Given the description of an element on the screen output the (x, y) to click on. 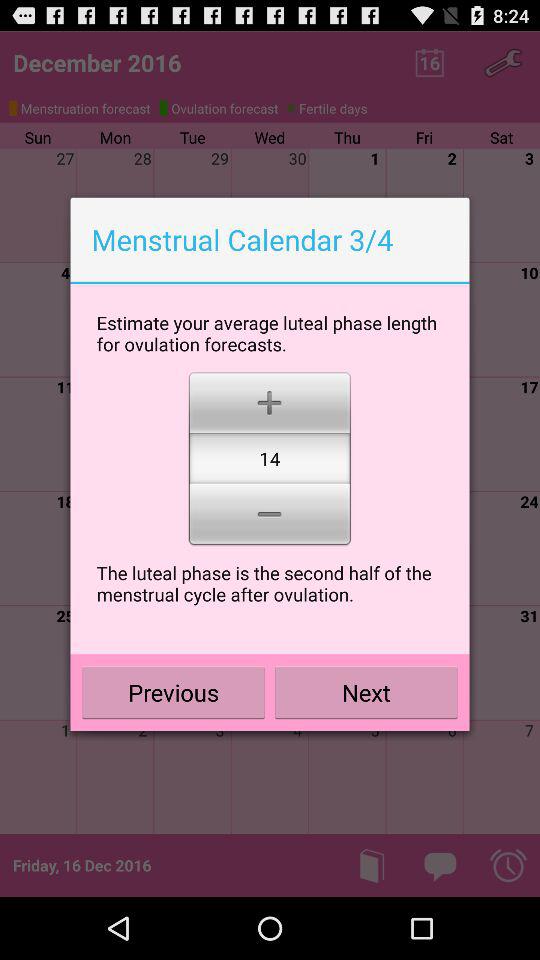
click the button to the right of the previous button (366, 692)
